Given the description of an element on the screen output the (x, y) to click on. 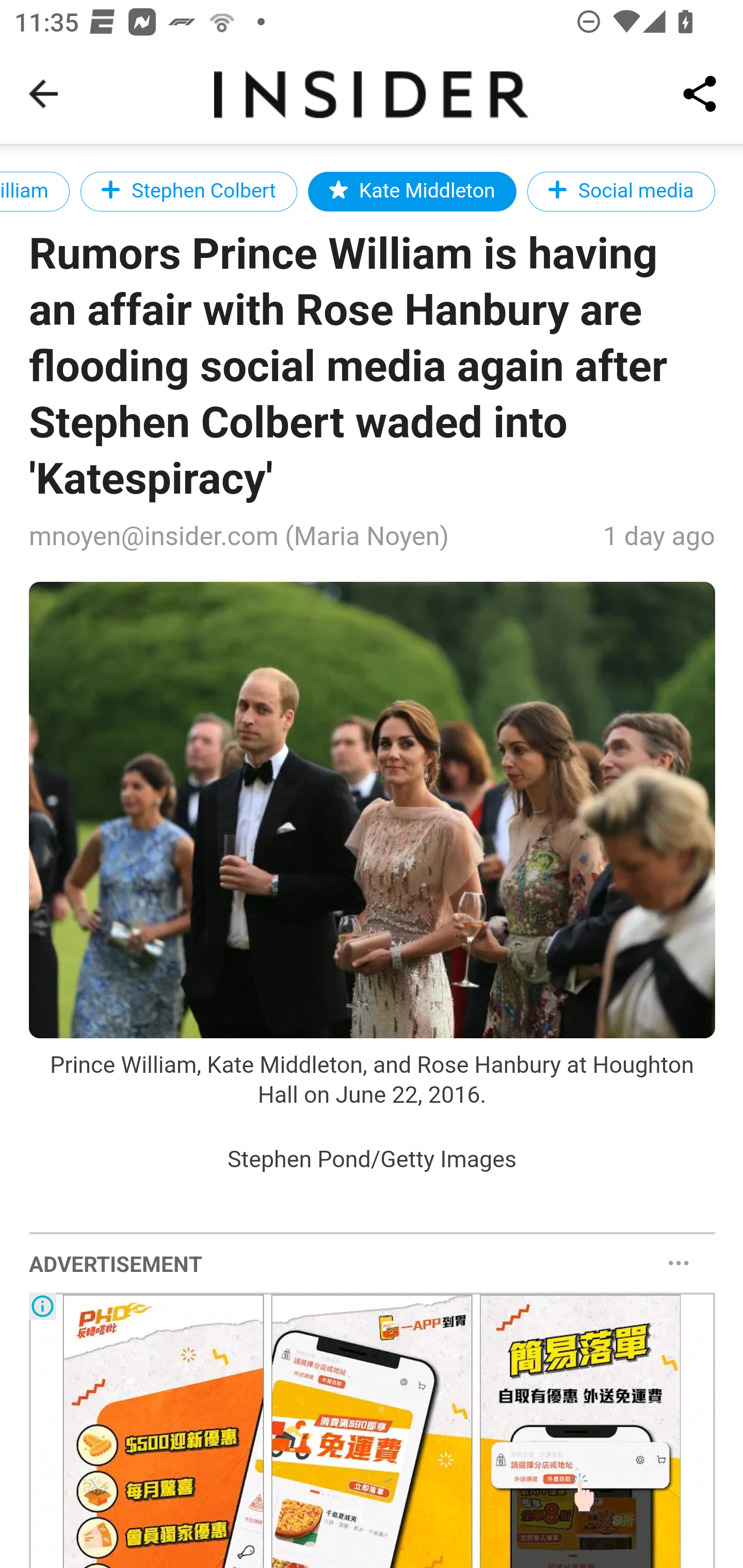
Stephen Colbert (188, 191)
Kate Middleton (411, 191)
Social media (620, 191)
?url=https%3A%2F%2Fi.insider (372, 810)
